Given the description of an element on the screen output the (x, y) to click on. 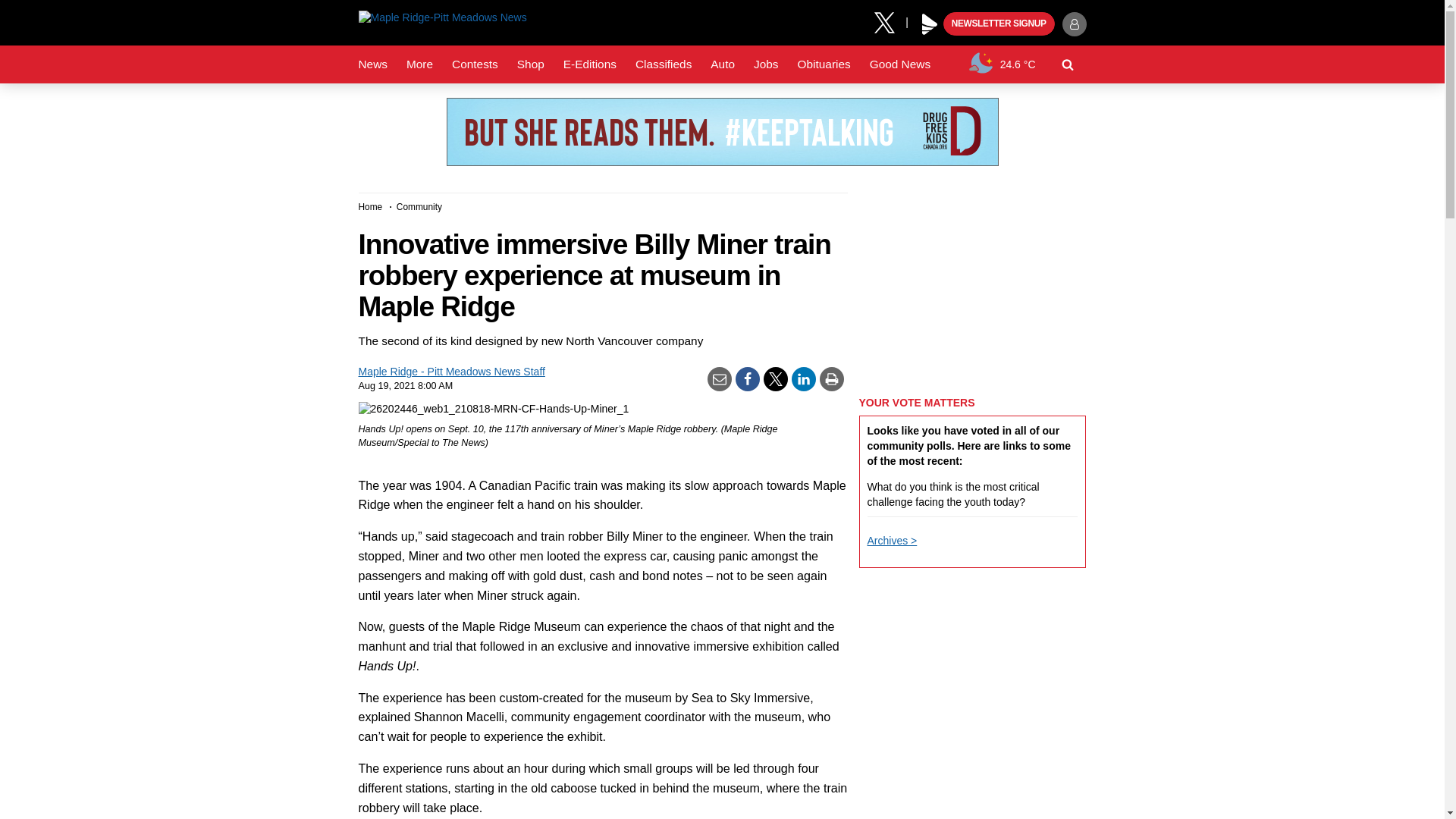
Black Press Media (929, 24)
Play (929, 24)
News (372, 64)
3rd party ad content (721, 131)
X (889, 21)
NEWSLETTER SIGNUP (998, 24)
